Given the description of an element on the screen output the (x, y) to click on. 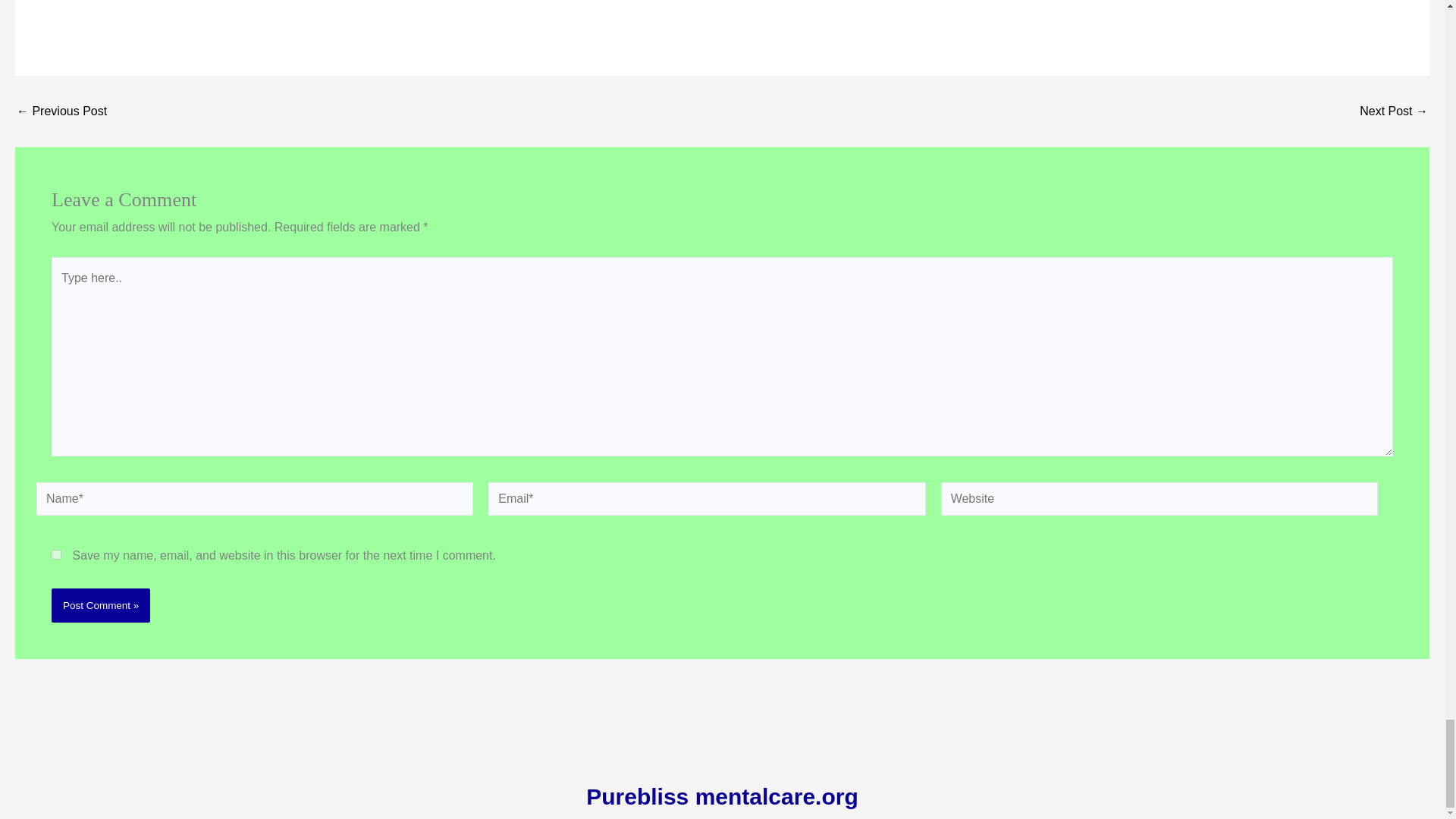
Navigating Midlife Guilt. (61, 111)
yes (55, 554)
10 Signs That You Are In Denial (1393, 111)
